Given the description of an element on the screen output the (x, y) to click on. 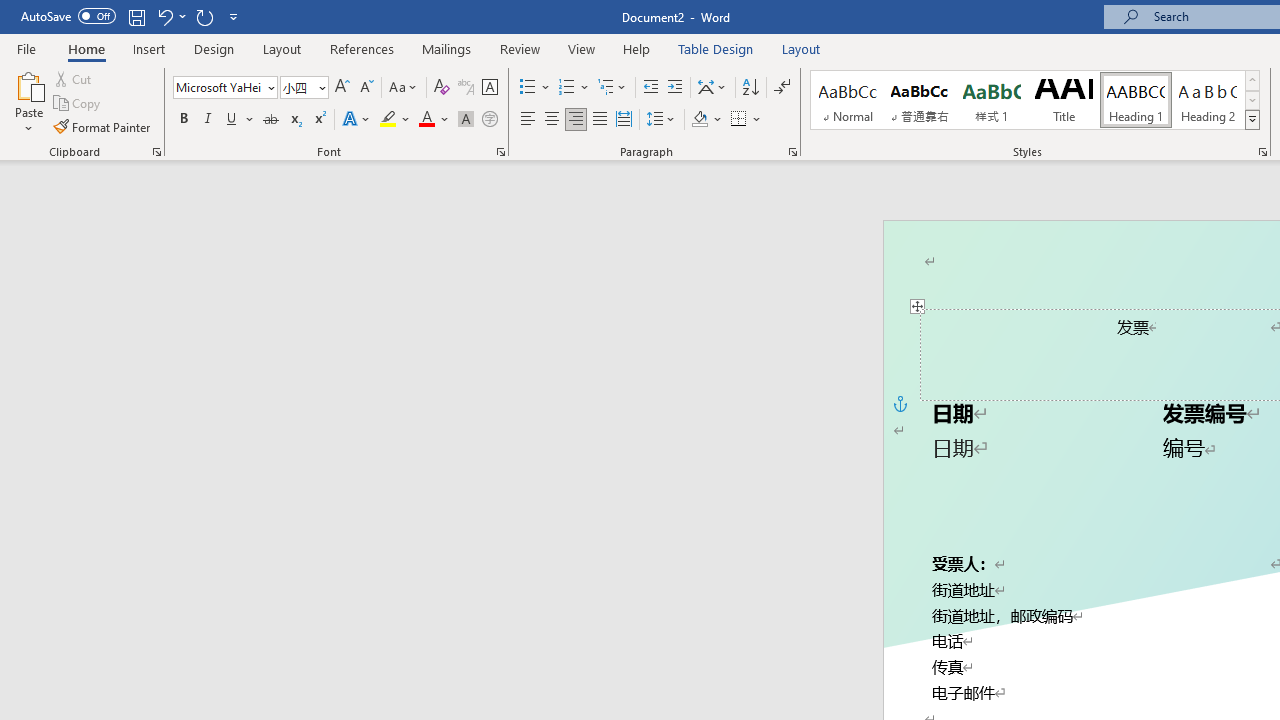
Shrink Font (365, 87)
Show/Hide Editing Marks (781, 87)
Copy (78, 103)
Row Down (1252, 100)
Table Design (715, 48)
AutomationID: QuickStylesGallery (1035, 99)
Font Color RGB(255, 0, 0) (426, 119)
Open (320, 87)
